Given the description of an element on the screen output the (x, y) to click on. 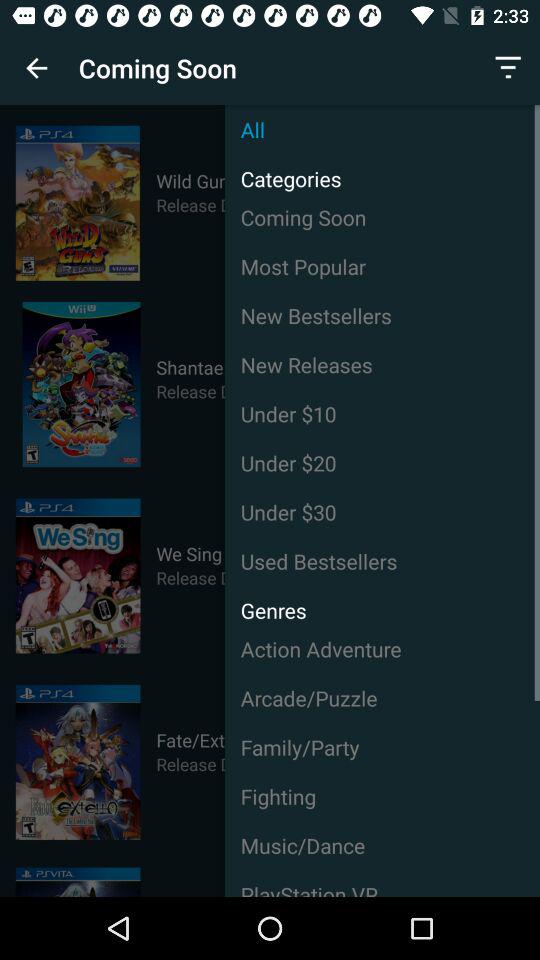
choose icon below under $30 item (382, 561)
